Given the description of an element on the screen output the (x, y) to click on. 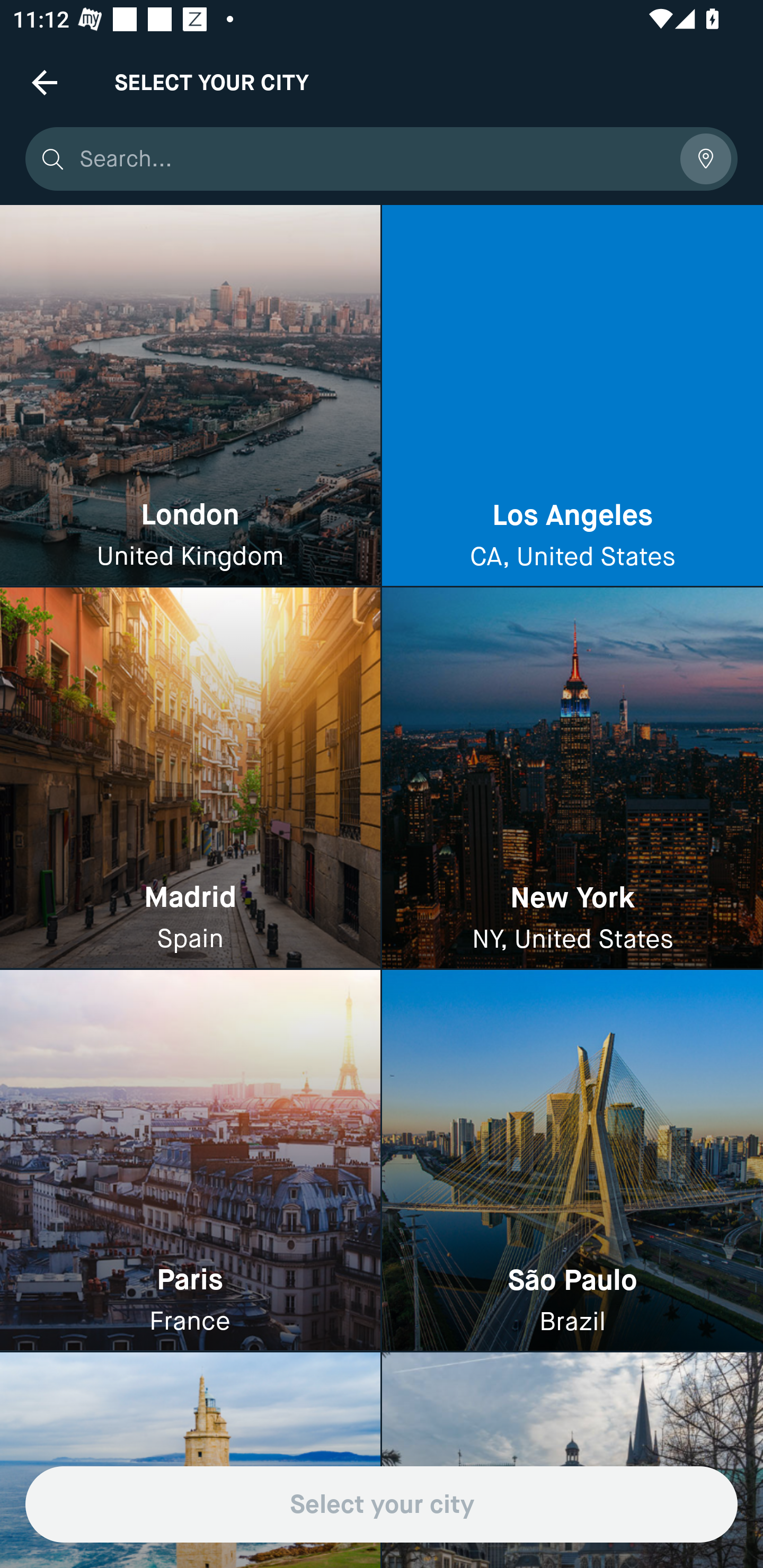
Navigate up (44, 82)
Search... (373, 159)
London United Kingdom (190, 395)
Los Angeles CA, United States (572, 395)
Madrid Spain (190, 778)
New York NY, United States (572, 778)
Paris France (190, 1160)
São Paulo Brazil (572, 1160)
Select your city (381, 1504)
